Given the description of an element on the screen output the (x, y) to click on. 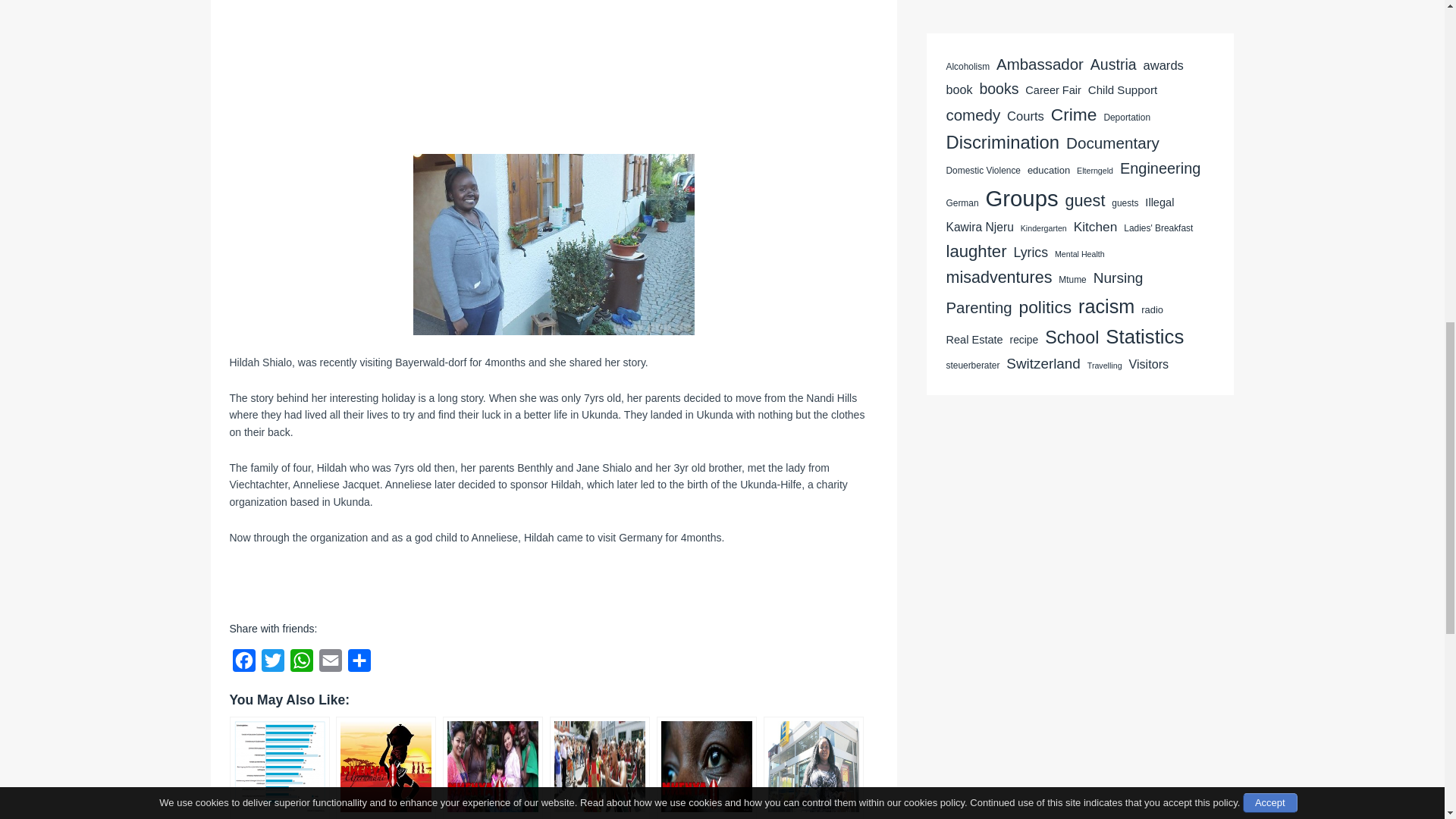
Advertisement (552, 69)
Abolish or Optimise Detention Camps for Deportees? (706, 767)
You were made to be AWESOME (385, 767)
WhatsApp (300, 664)
What Challenges do Foreign students in Germany Face? (278, 767)
Facebook (242, 664)
Twitter (271, 664)
Email (329, 664)
